Given the description of an element on the screen output the (x, y) to click on. 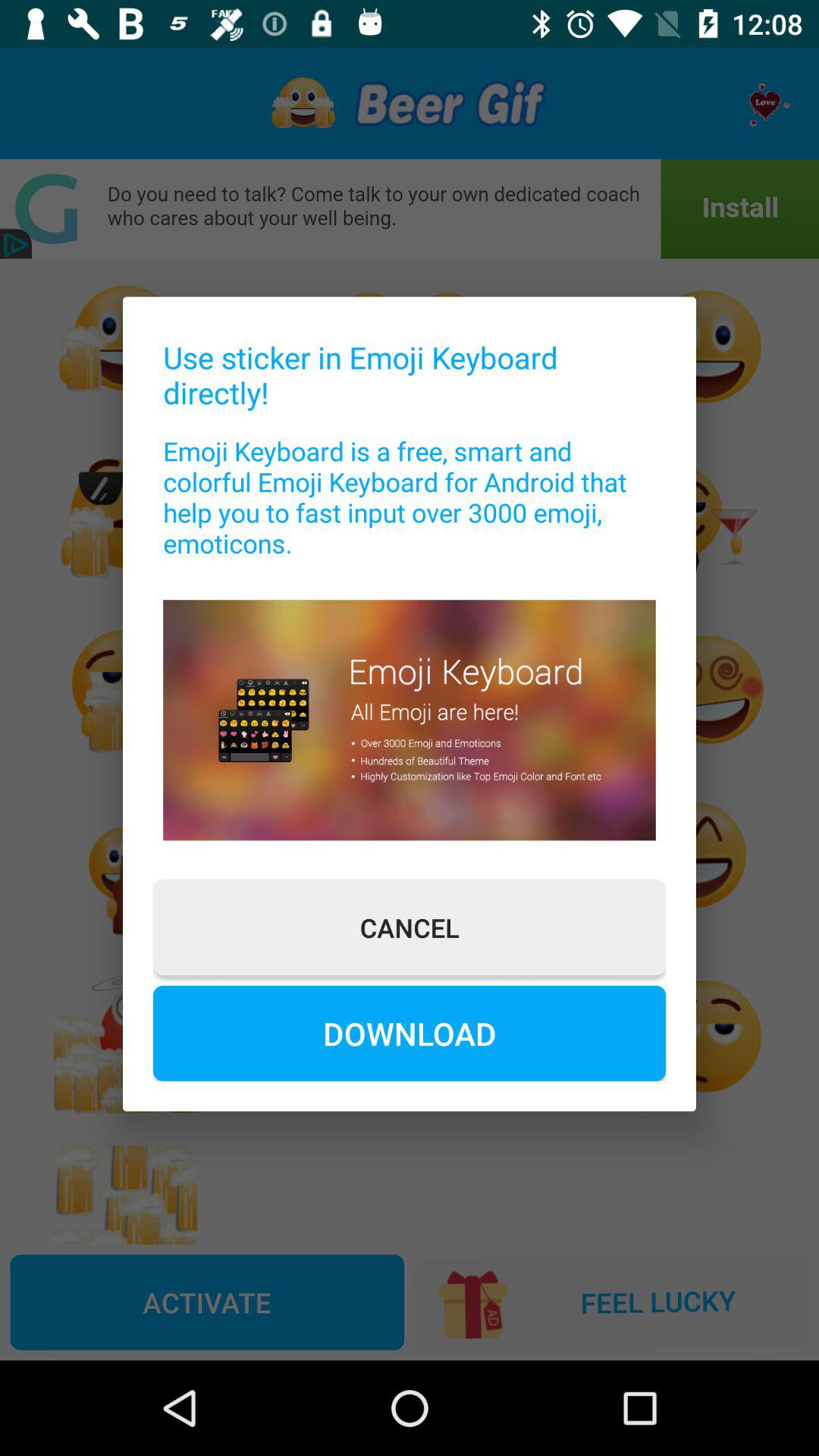
jump until the cancel icon (409, 927)
